Given the description of an element on the screen output the (x, y) to click on. 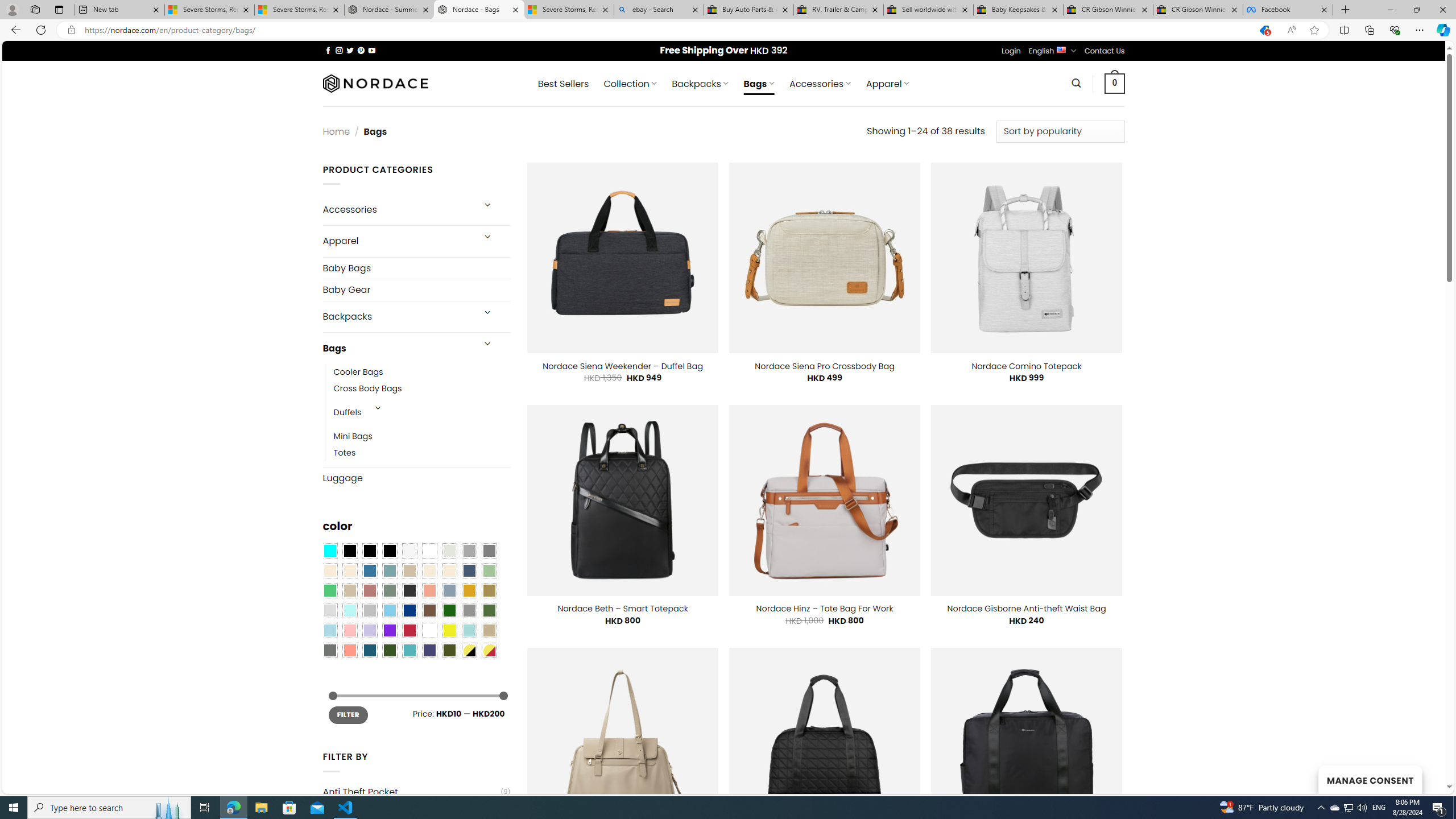
Luggage (416, 477)
Dull Nickle (329, 649)
Beige (329, 570)
Clear (429, 550)
 Best Sellers (563, 83)
Yellow-Black (468, 649)
Purple (389, 630)
Forest (389, 649)
Dark Green (449, 610)
Kelp (488, 590)
English (1061, 49)
